Given the description of an element on the screen output the (x, y) to click on. 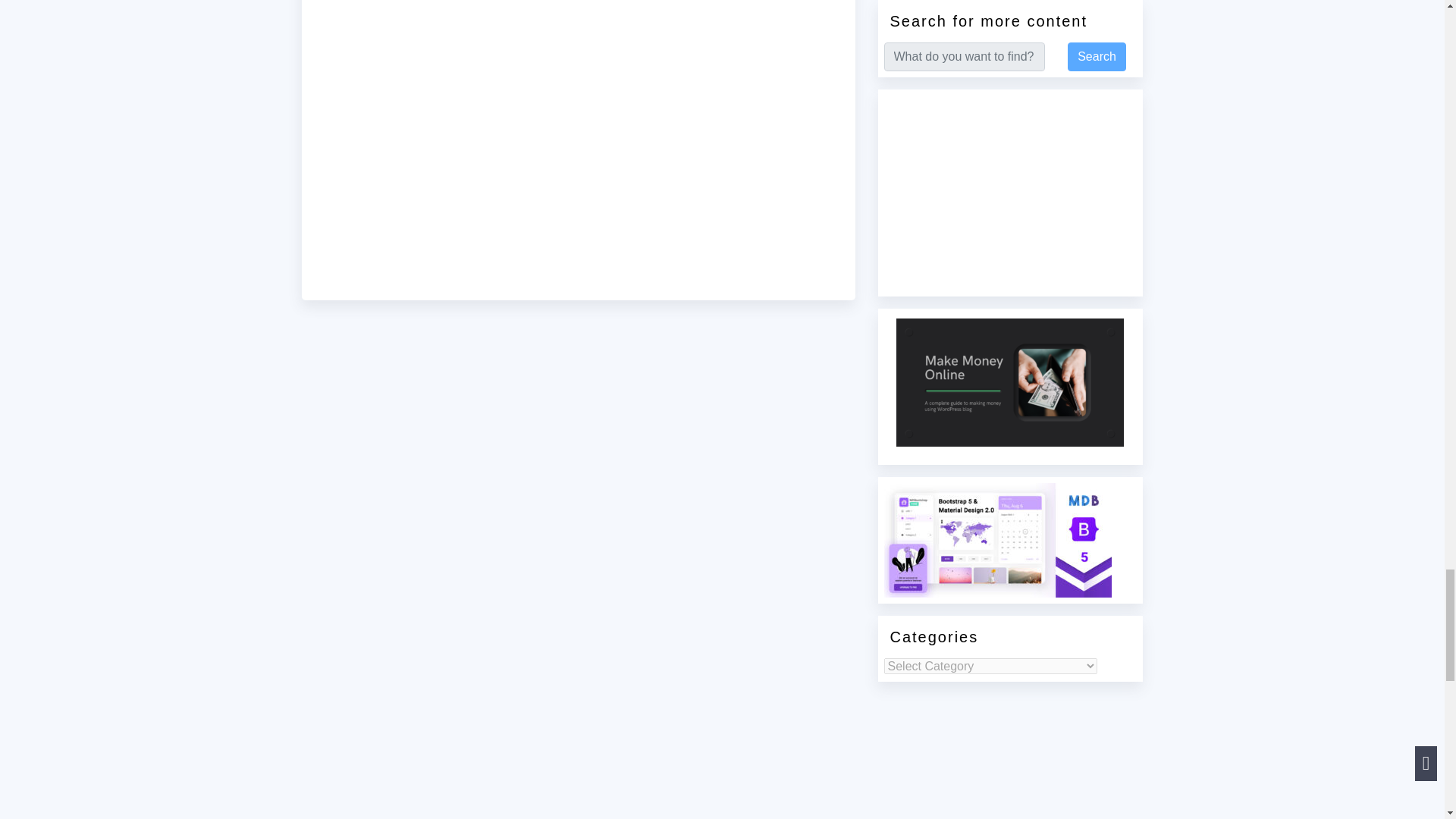
Subscribe (577, 146)
